Given the description of an element on the screen output the (x, y) to click on. 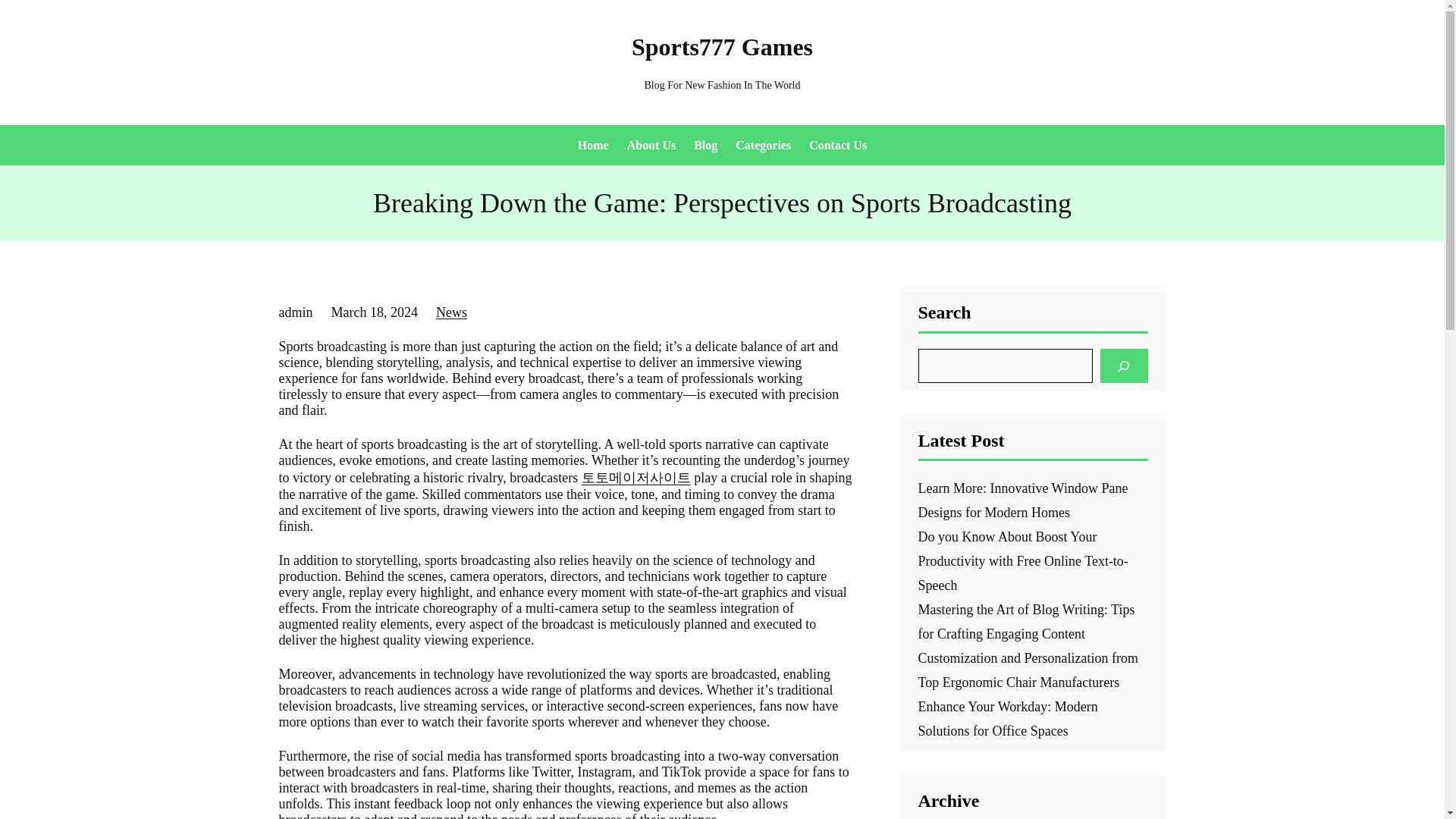
Blog (705, 144)
Learn More: Innovative Window Pane Designs for Modern Homes (1021, 500)
Enhance Your Workday: Modern Solutions for Office Spaces (1007, 718)
Categories (762, 144)
Home (593, 144)
Sports777 Games (721, 46)
About Us (651, 144)
News (451, 312)
Contact Us (837, 144)
